Given the description of an element on the screen output the (x, y) to click on. 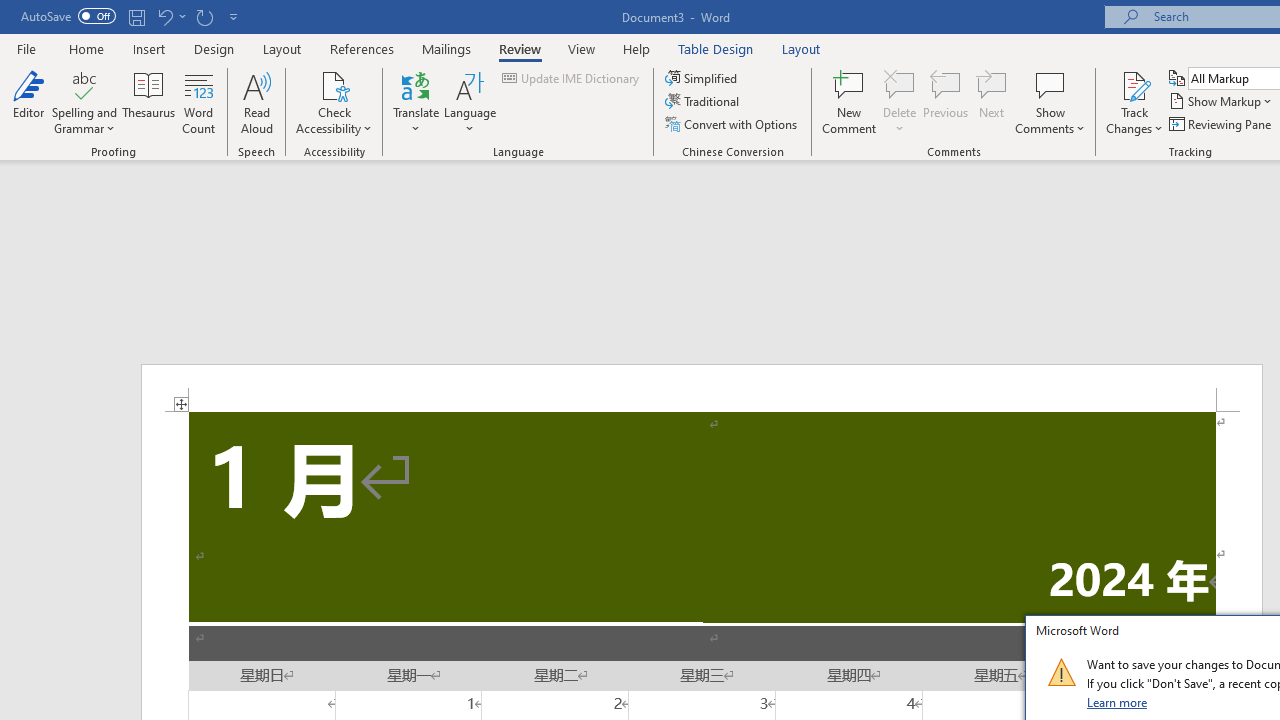
Previous (946, 102)
Table Design (715, 48)
Show Comments (1050, 102)
Delete (900, 84)
